Given the description of an element on the screen output the (x, y) to click on. 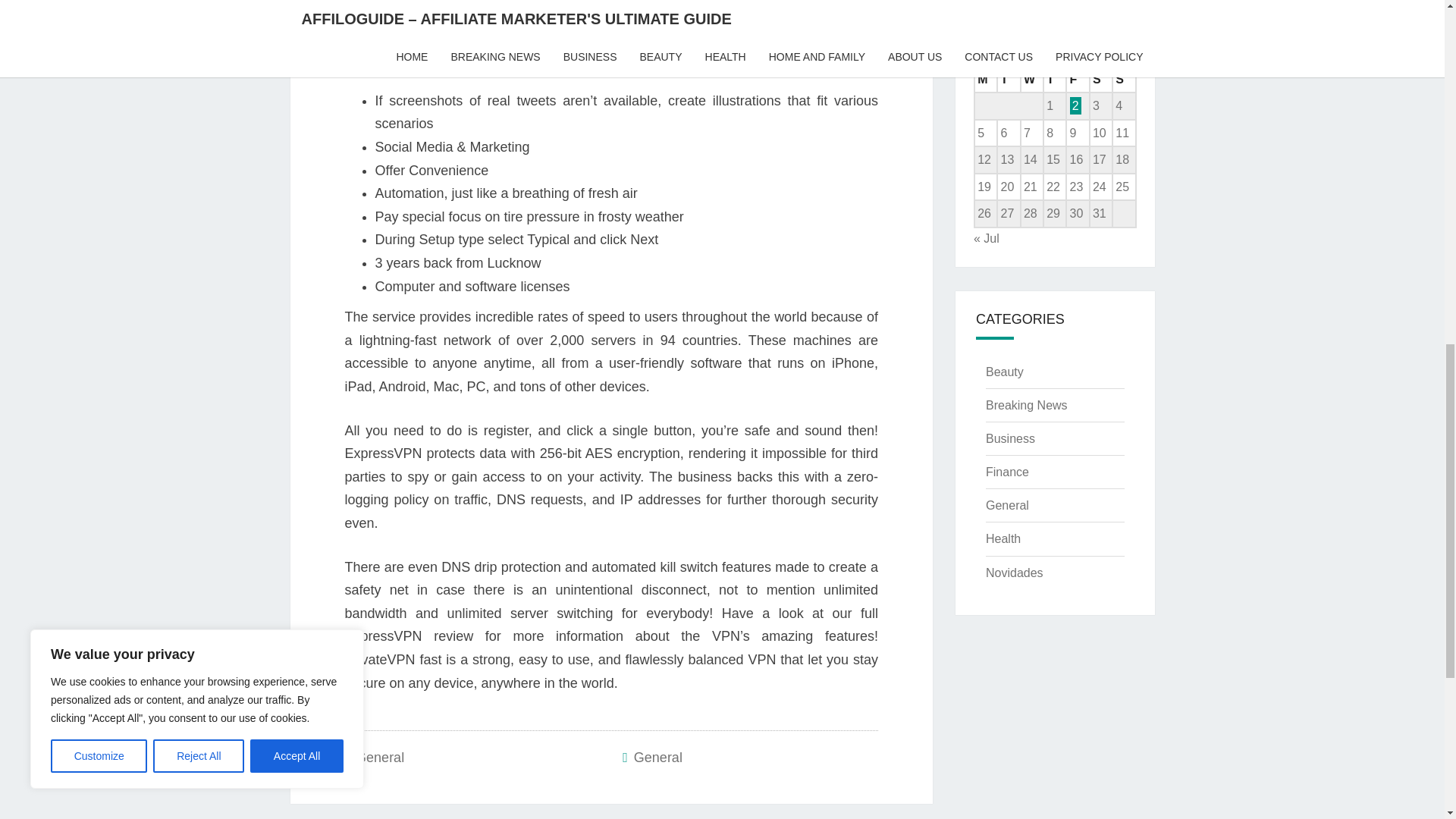
General (379, 757)
Beauty (1004, 371)
General (657, 757)
